Given the description of an element on the screen output the (x, y) to click on. 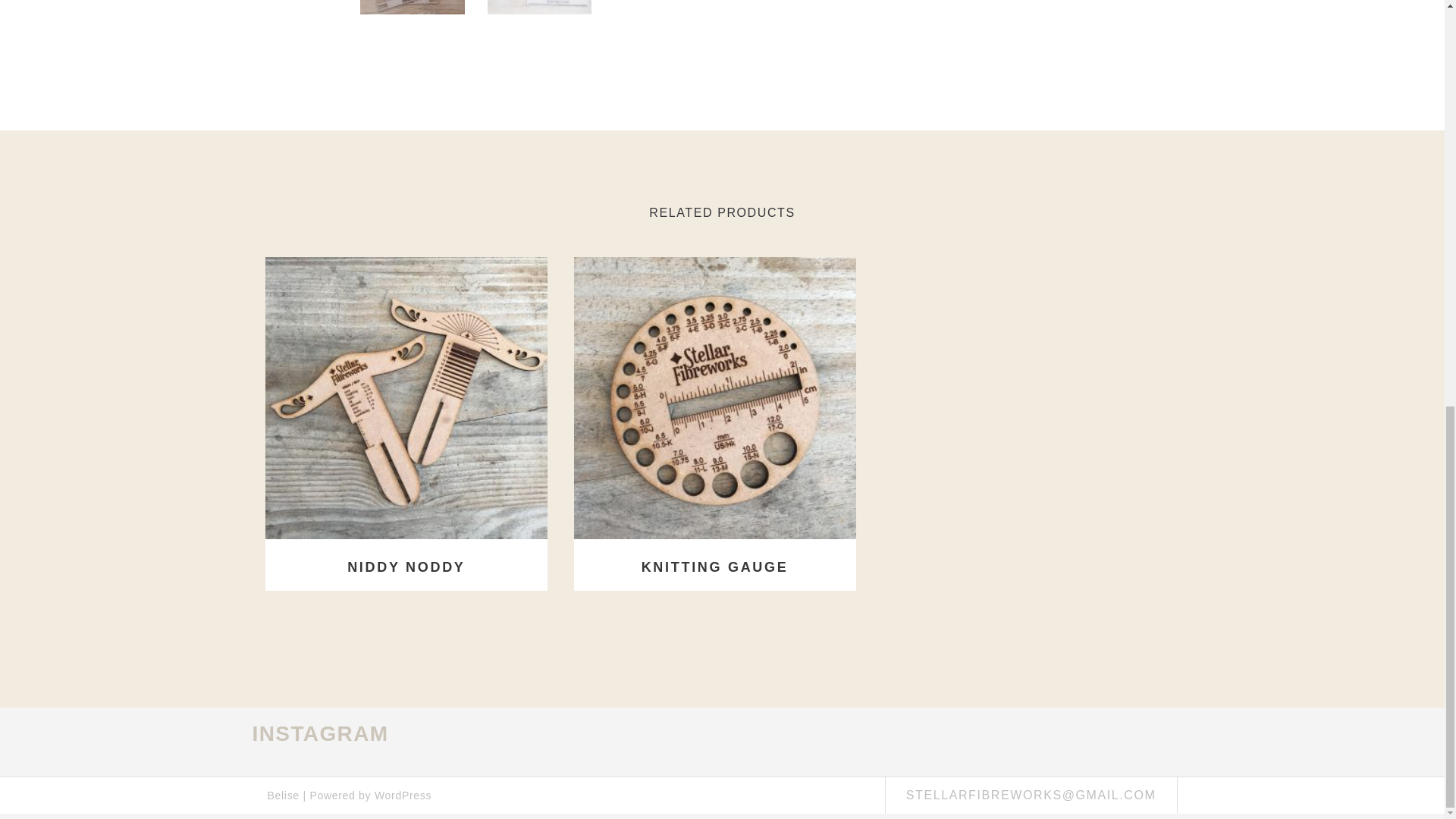
WordPress (402, 795)
Niddy Noddy (405, 397)
NIDDY NODDY (405, 566)
Niddy Noddy (405, 566)
Knitting Gauge (714, 397)
Knitting Gauge (715, 566)
Belise (282, 795)
KNITTING GAUGE (715, 566)
